Given the description of an element on the screen output the (x, y) to click on. 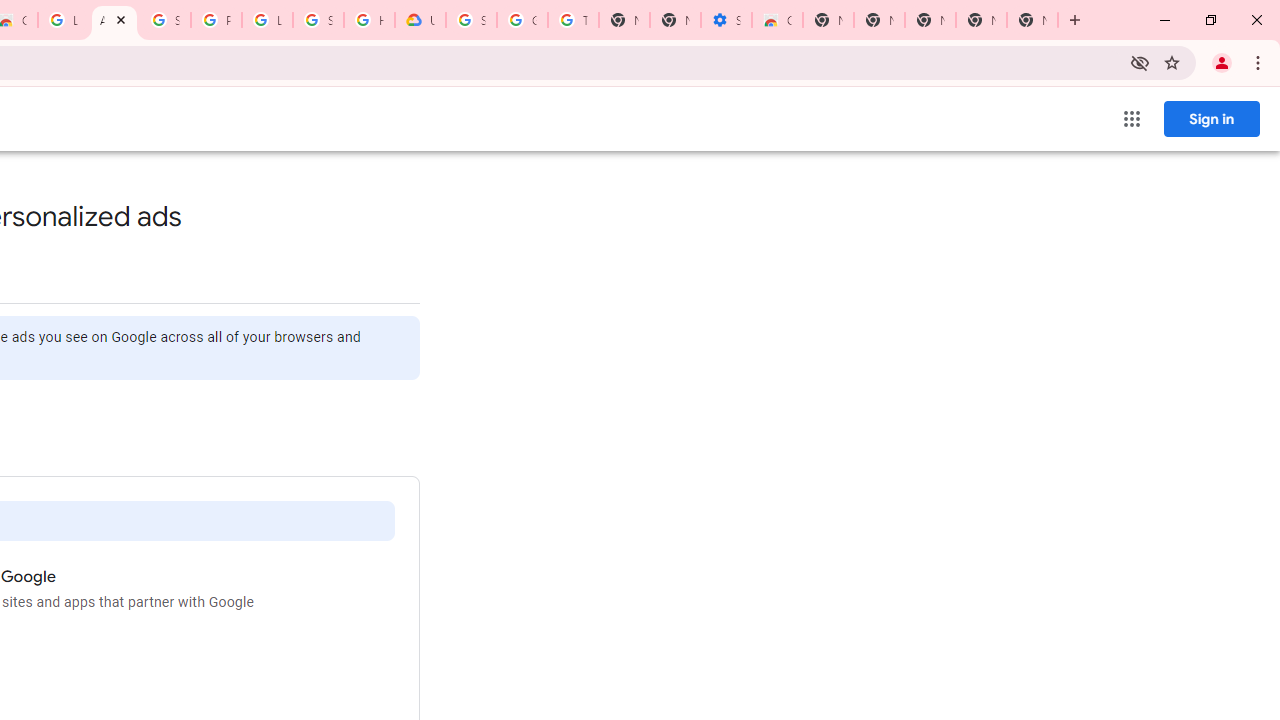
New Tab (827, 20)
Settings - Accessibility (726, 20)
Sign in - Google Accounts (164, 20)
